Given the description of an element on the screen output the (x, y) to click on. 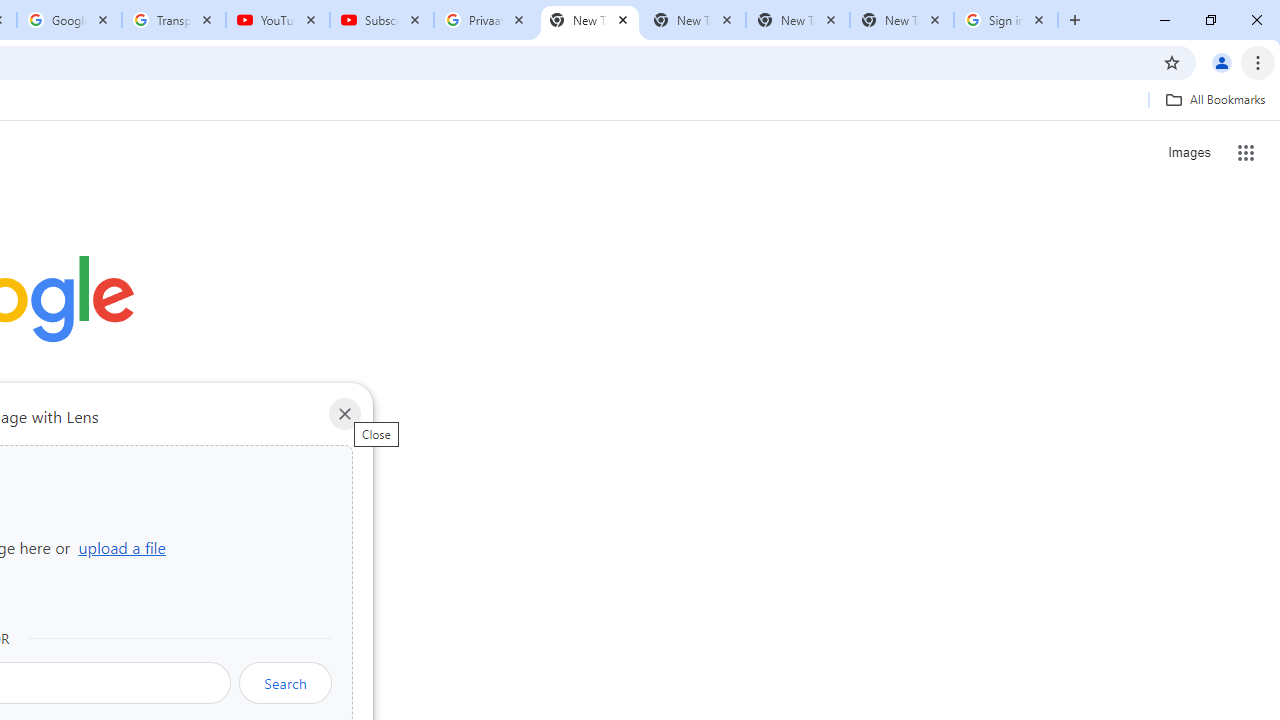
Sign in - Google Accounts (1005, 20)
New Tab (901, 20)
YouTube (278, 20)
